Given the description of an element on the screen output the (x, y) to click on. 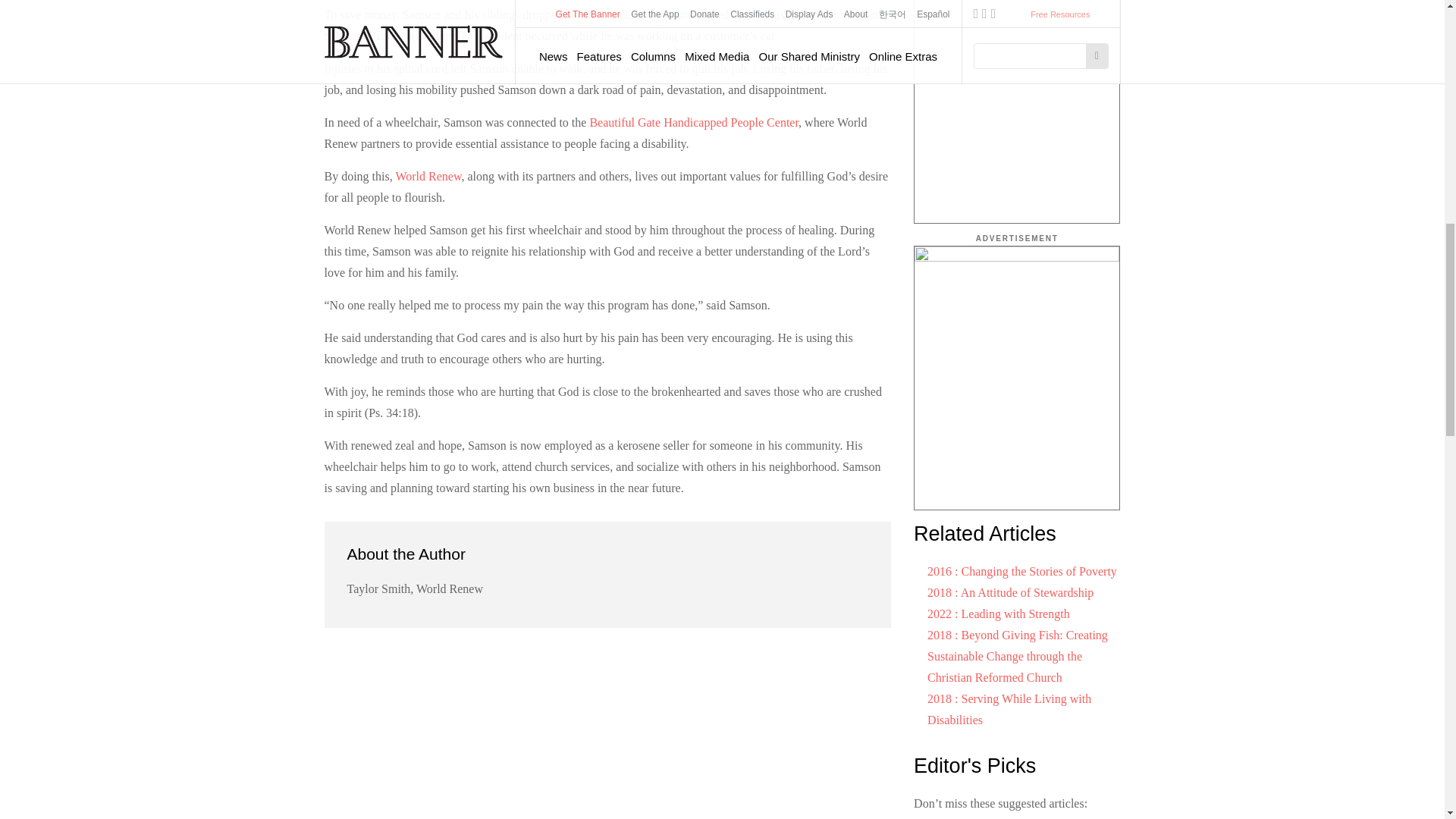
2022 : Leading with Strength (998, 613)
2018 : An Attitude of Stewardship (1010, 592)
Beautiful Gate Handicapped People Center (693, 122)
2016 : Changing the Stories of Poverty (1021, 571)
World Renew (427, 175)
2018 : Serving While Living with Disabilities (1008, 709)
